Given the description of an element on the screen output the (x, y) to click on. 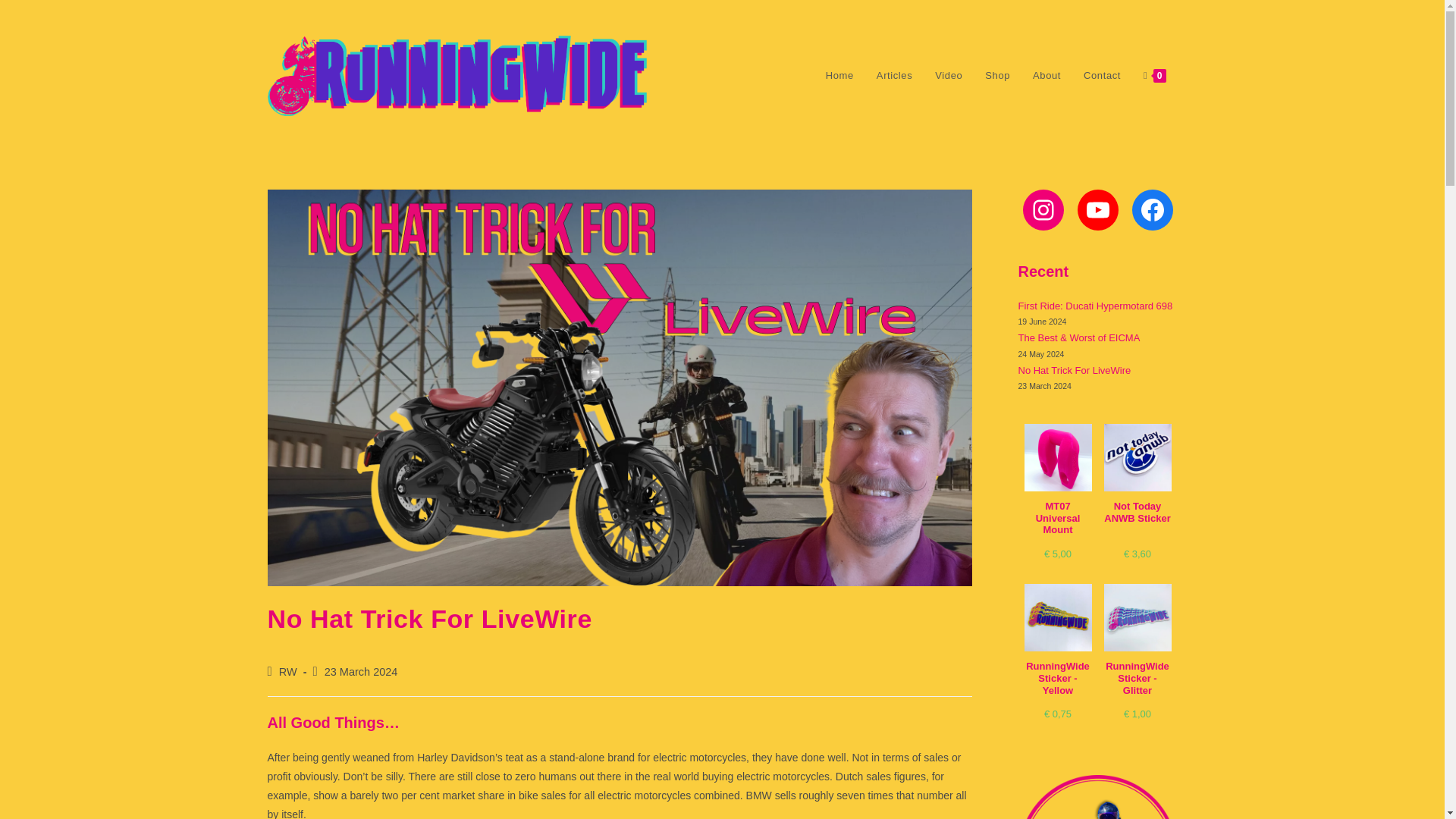
YouTube (1097, 209)
Instagram (1042, 209)
Posts by RW (288, 671)
No Hat Trick For LiveWire (1074, 369)
Facebook (1151, 209)
RW (288, 671)
First Ride: Ducati Hypermotard 698 (1094, 306)
